Given the description of an element on the screen output the (x, y) to click on. 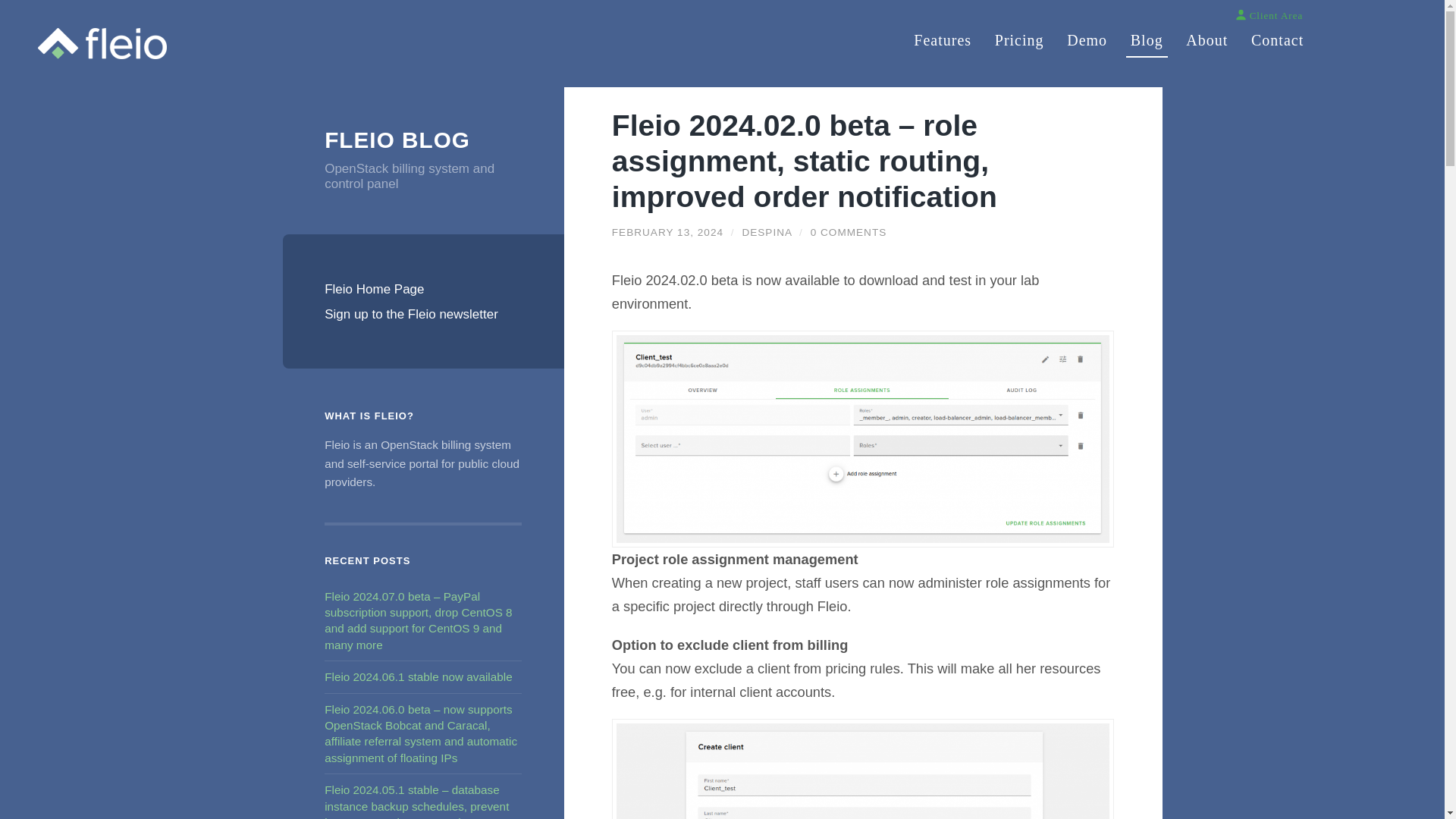
Client Area (1268, 15)
About (1205, 35)
FLEIO BLOG (422, 139)
Contact (1276, 35)
Pricing (1019, 35)
Blog (1146, 35)
Posts by despina (766, 232)
Fleio 2024.06.1 stable now available (418, 676)
Sign up to the Fleio newsletter (422, 314)
Features (941, 35)
Demo (1087, 35)
Fleio Home Page (422, 289)
Fleio: OpenStack Billing System and Control Panel (102, 42)
